Given the description of an element on the screen output the (x, y) to click on. 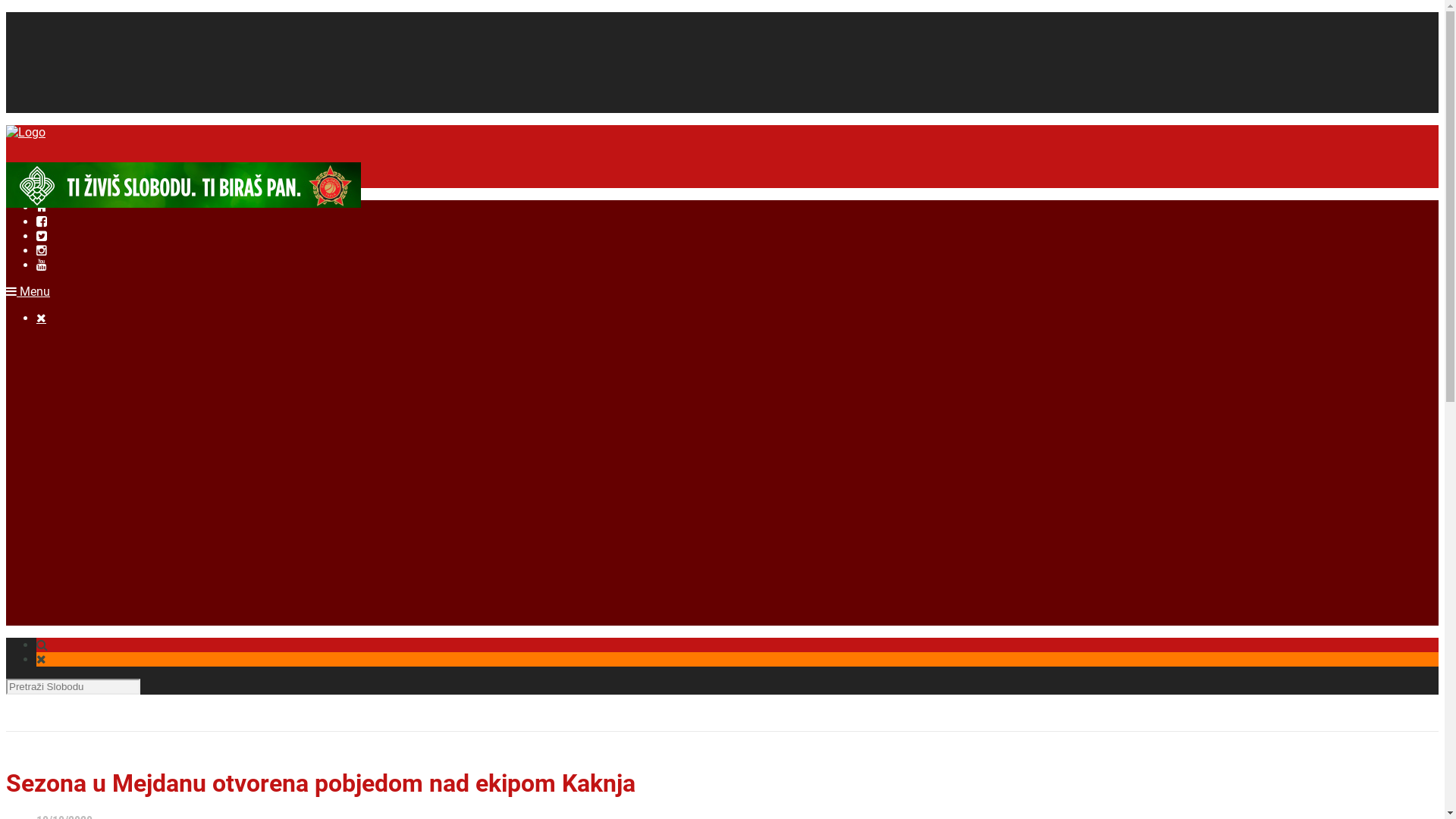
Menu Element type: text (28, 291)
